Given the description of an element on the screen output the (x, y) to click on. 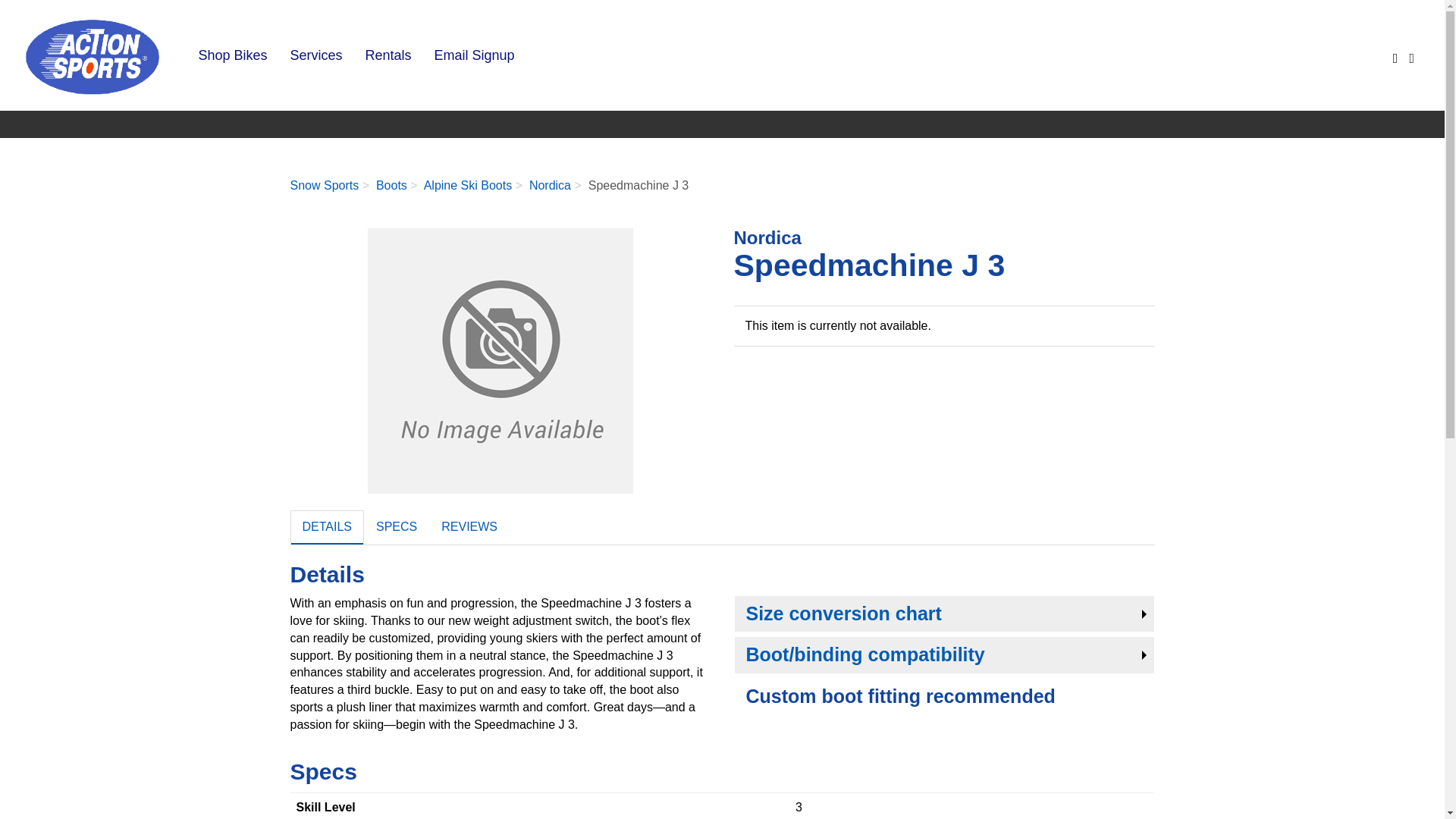
Size conversion chart (943, 614)
Boots (391, 185)
Snow Sports (323, 185)
Services (315, 55)
Alpine Ski Boots (467, 185)
Nordica (549, 185)
SPECS (396, 527)
Rentals (387, 55)
DETAILS (326, 527)
Action Sports Bicycle Center Home Page (93, 55)
